Given the description of an element on the screen output the (x, y) to click on. 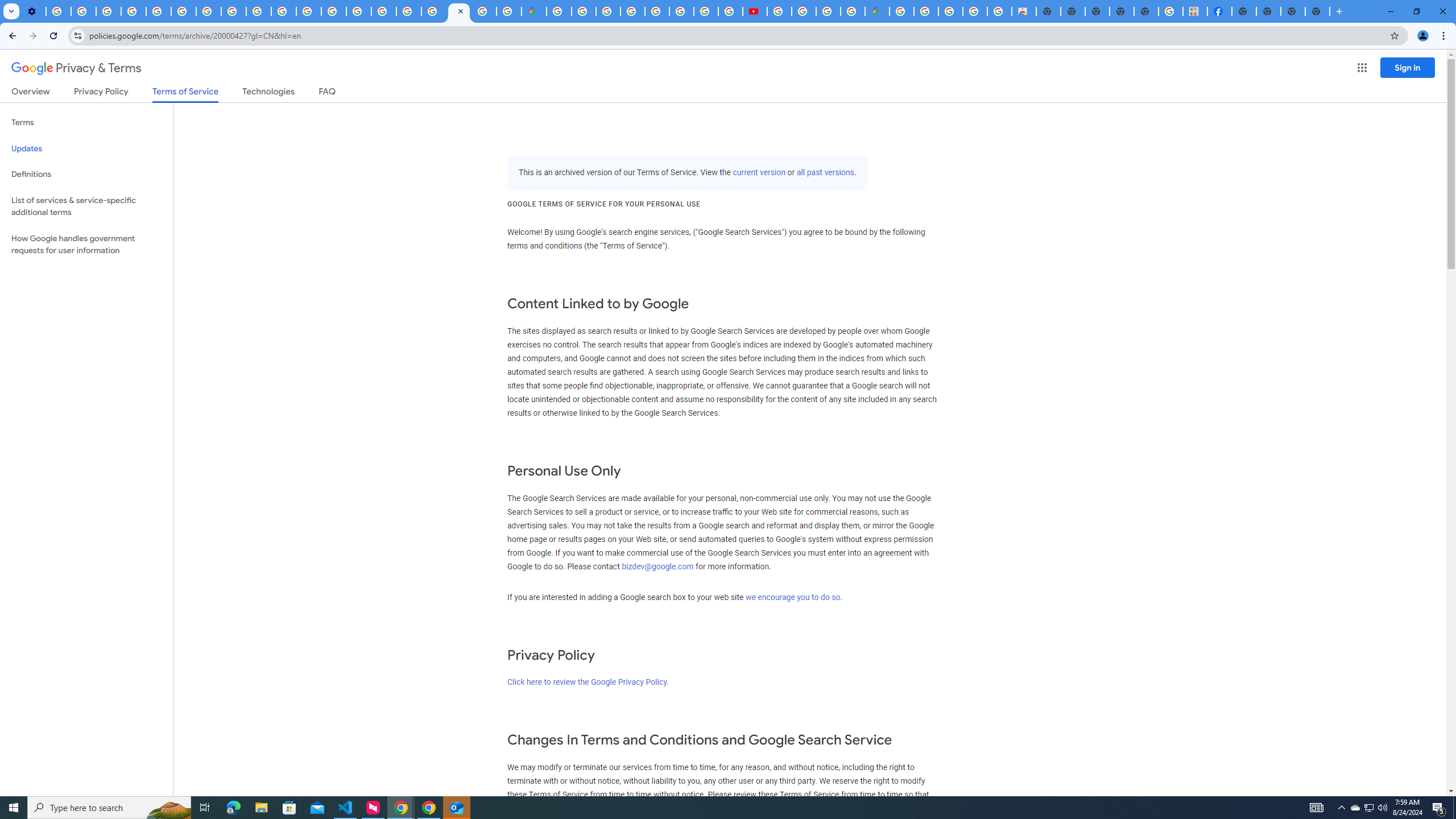
Sign in - Google Accounts (433, 11)
Sign in - Google Accounts (900, 11)
Privacy Help Center - Policies Help (158, 11)
